Given the description of an element on the screen output the (x, y) to click on. 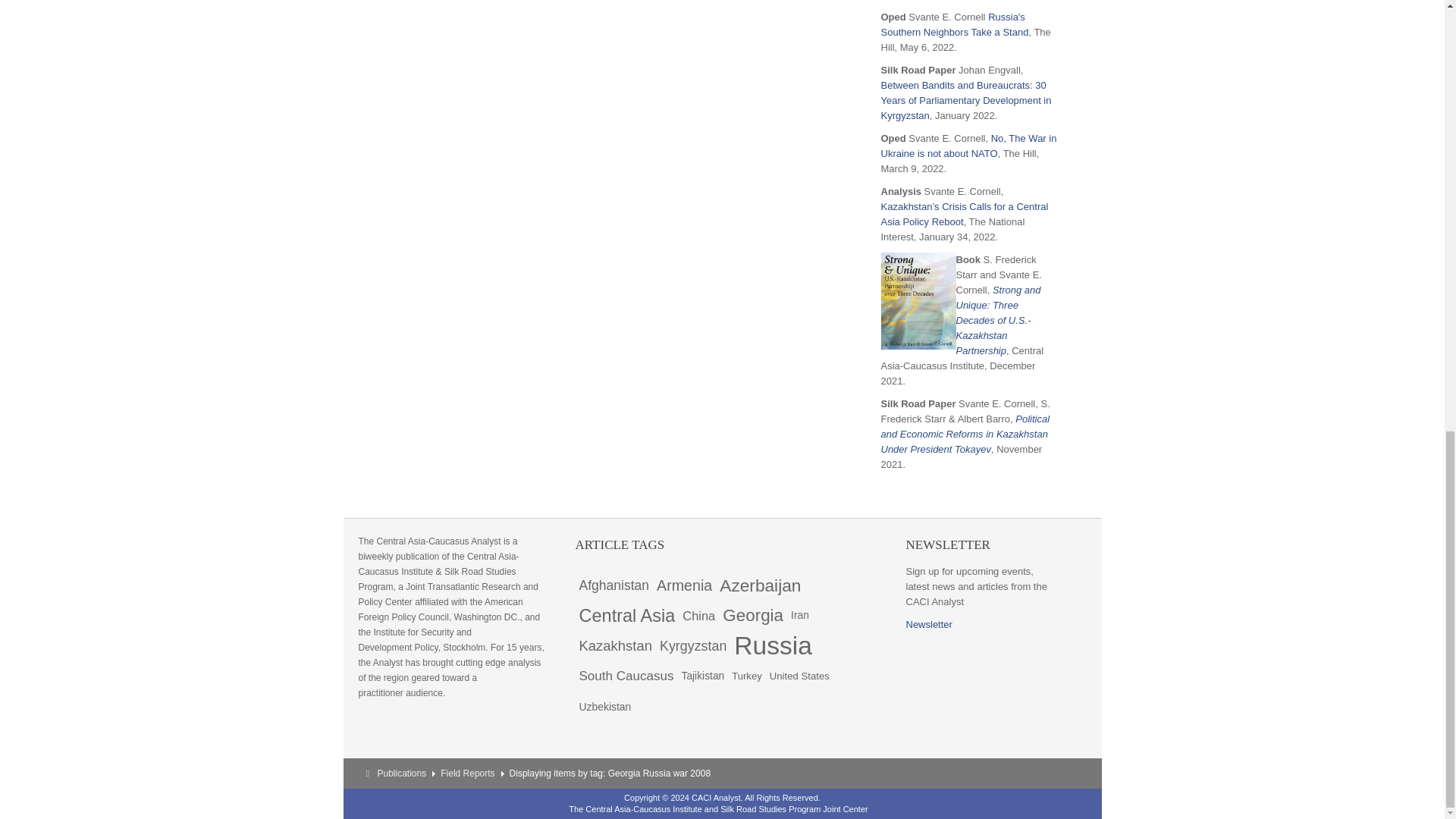
114 items tagged with Afghanistan (613, 585)
171 items tagged with Georgia (753, 615)
139 items tagged with Armenia (684, 585)
102 items tagged with China (698, 615)
175 items tagged with Azerbaijan (760, 585)
62 items tagged with Turkey (746, 675)
Russia's Southern Neighbors Take a Stand (954, 24)
184 items tagged with Central Asia (626, 615)
303 items tagged with Russia (772, 645)
109 items tagged with South Caucasus (626, 675)
64 items tagged with United States (798, 675)
No, The War in Ukraine is not about NATO (968, 145)
